Given the description of an element on the screen output the (x, y) to click on. 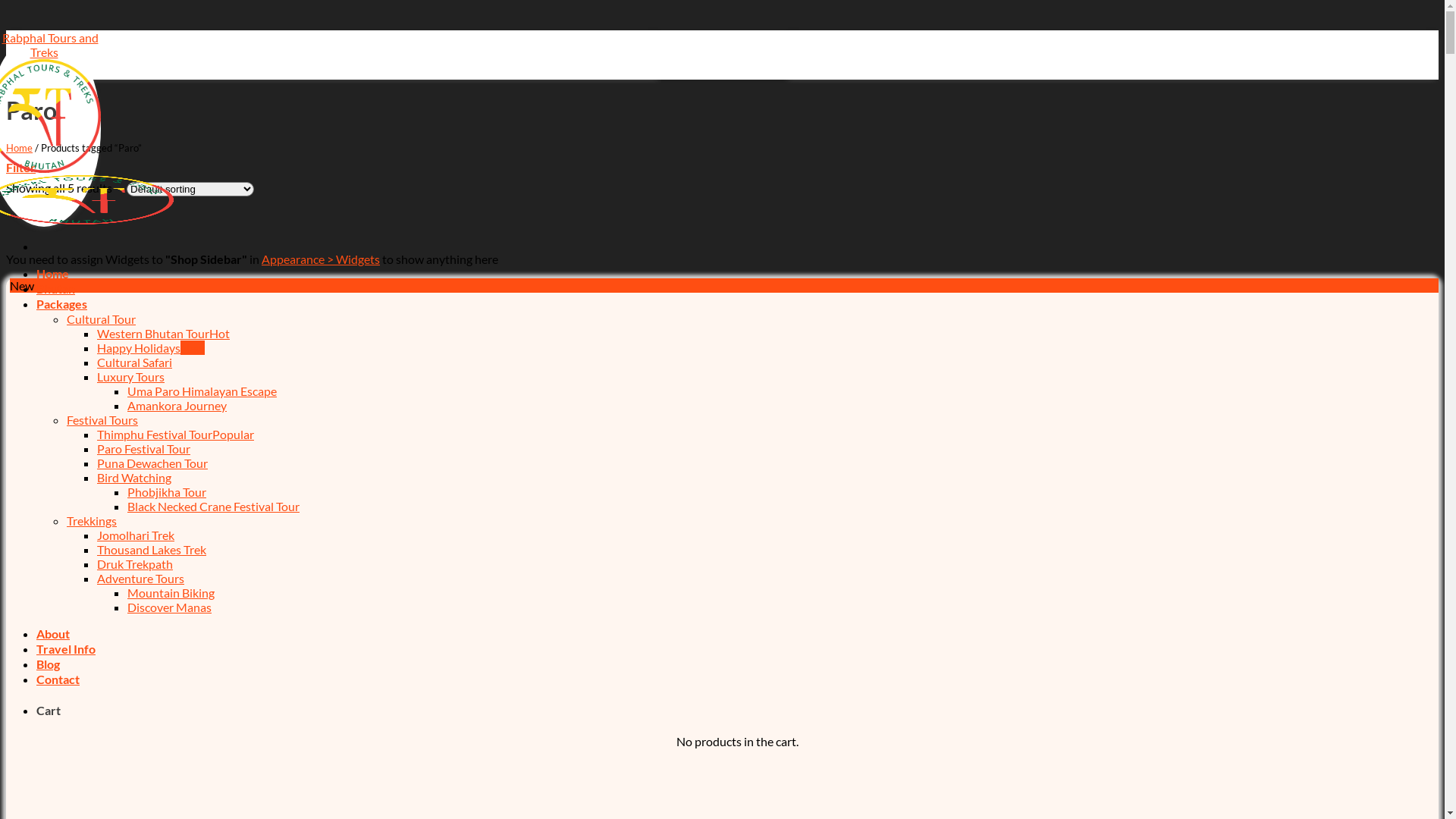
Discover Manas Element type: text (169, 606)
Puna Dewachen Tour Element type: text (152, 462)
Thousand Lakes Trek Element type: text (151, 549)
Adventure Tours Element type: text (140, 578)
Paro Festival Tour Element type: text (143, 448)
About Element type: text (52, 633)
Bird Watching Element type: text (134, 477)
Home Element type: text (19, 147)
Contact Element type: text (57, 678)
Phobjikha Tour Element type: text (166, 491)
Black Necked Crane Festival Tour Element type: text (213, 505)
Happy Holidays Element type: text (150, 347)
Packages Element type: text (61, 303)
Filter Element type: text (20, 167)
Travel Info Element type: text (65, 648)
Festival Tours Element type: text (102, 419)
Jomolhari Trek Element type: text (135, 534)
Bhutan Element type: text (55, 288)
Cultural Safari Element type: text (134, 361)
Thimphu Festival Tour Element type: text (175, 433)
Luxury Tours Element type: text (130, 376)
Uma Paro Himalayan Escape Element type: text (201, 390)
Mountain Biking Element type: text (170, 592)
Skip to content Element type: text (5, 29)
Western Bhutan Tour Element type: text (163, 333)
Appearance > Widgets Element type: text (320, 258)
Druk Trekpath Element type: text (134, 563)
Cultural Tour Element type: text (100, 318)
Blog Element type: text (47, 663)
Home Element type: text (52, 273)
Trekkings Element type: text (91, 520)
Amankora Journey Element type: text (176, 405)
